Given the description of an element on the screen output the (x, y) to click on. 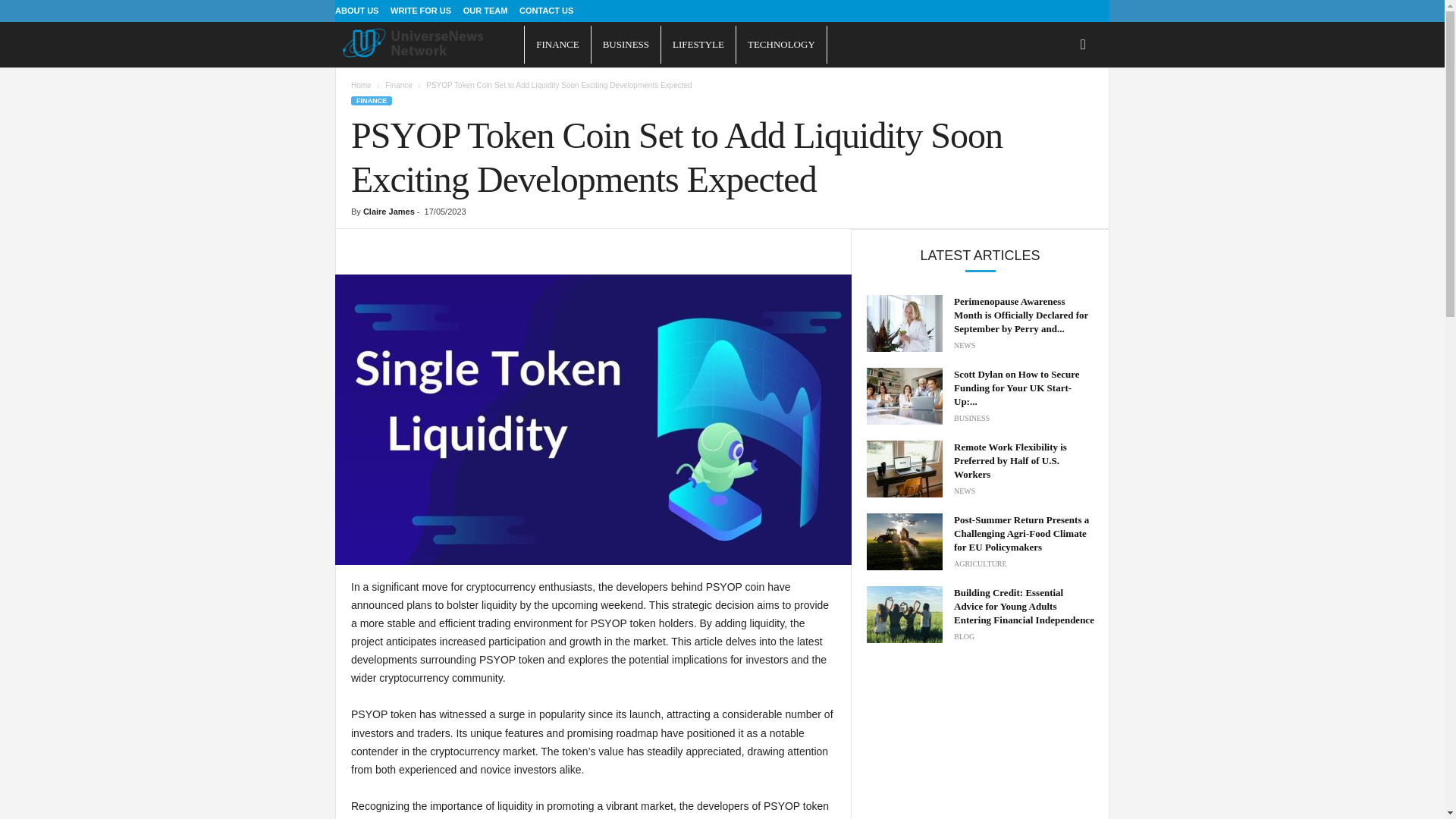
CONTACT US (546, 10)
BUSINESS (626, 44)
Home (360, 85)
ABOUT US (356, 10)
FINANCE (370, 100)
TECHNOLOGY (781, 44)
Universe News Network (429, 43)
LIFESTYLE (698, 44)
Claire James (388, 211)
